Given the description of an element on the screen output the (x, y) to click on. 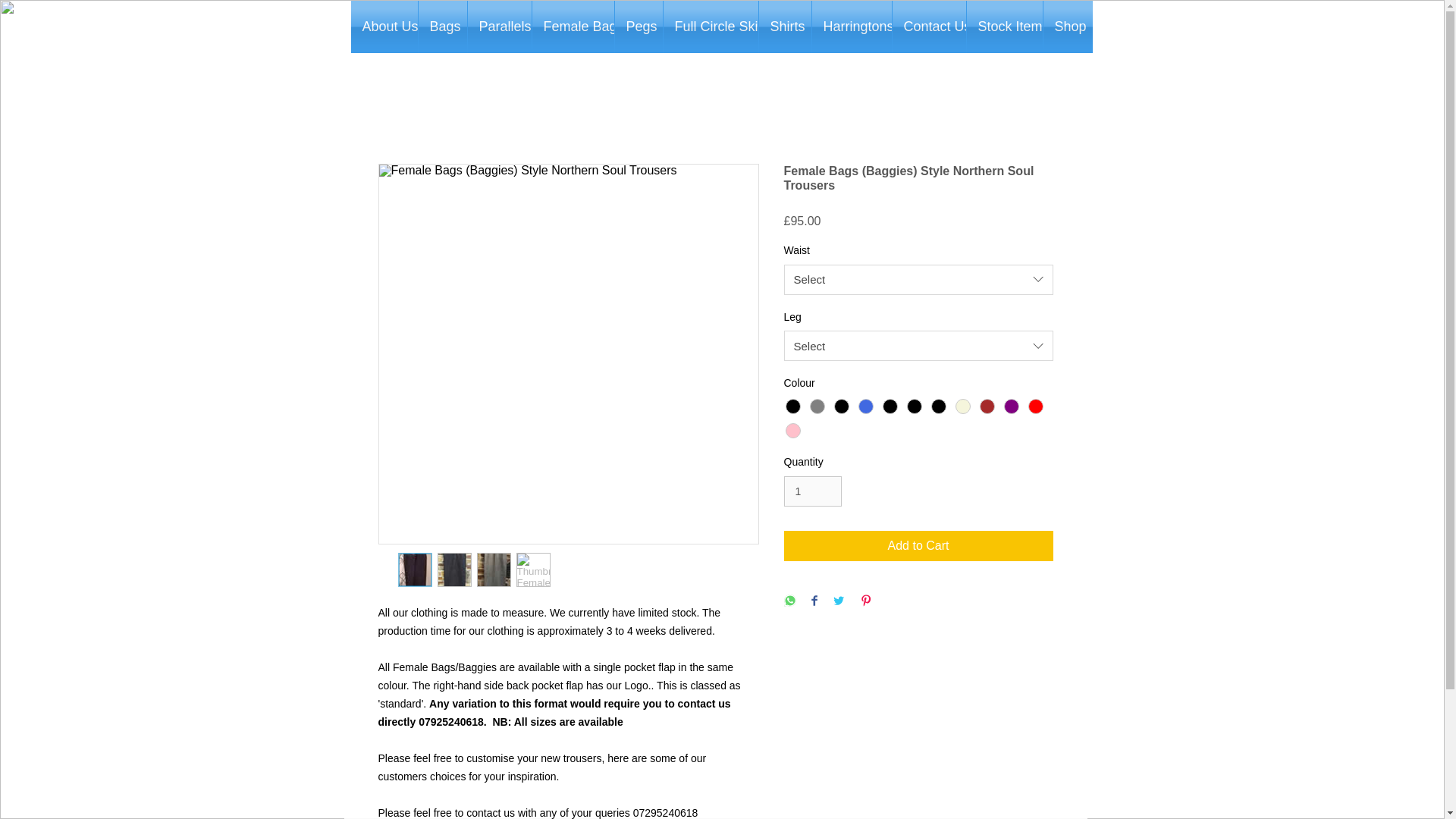
Full Circle Skirts (709, 26)
Stock Items (1004, 26)
Harringtons (850, 26)
Shop (1068, 26)
Female Bags (573, 26)
Select (918, 279)
Parallels (499, 26)
Select (918, 345)
Contact Us (928, 26)
About Us (383, 26)
